Given the description of an element on the screen output the (x, y) to click on. 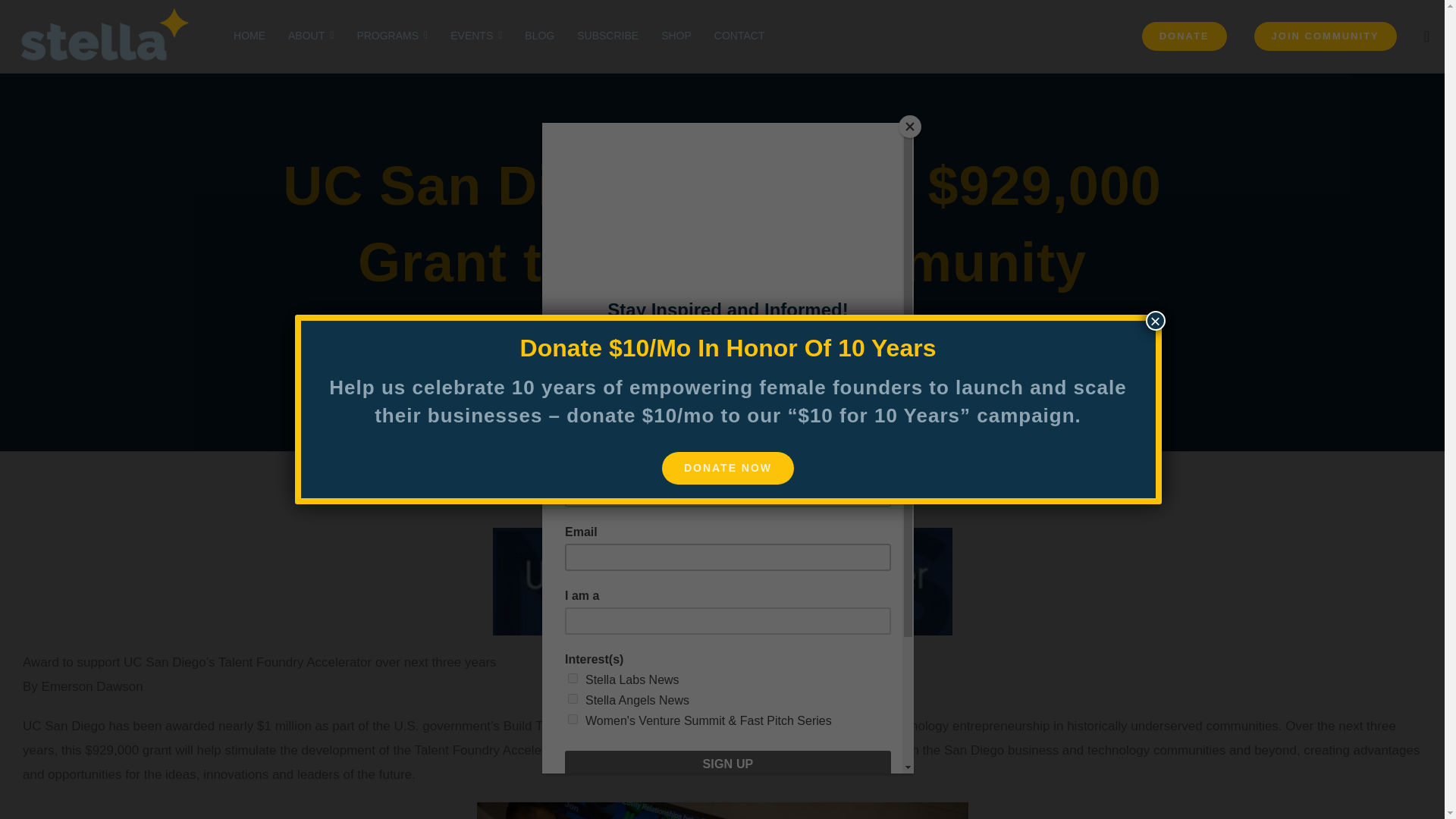
PROGRAMS (392, 36)
ABOUT (310, 36)
SUBSCRIBE (607, 36)
EVENTS (476, 36)
CONTACT (739, 36)
